Given the description of an element on the screen output the (x, y) to click on. 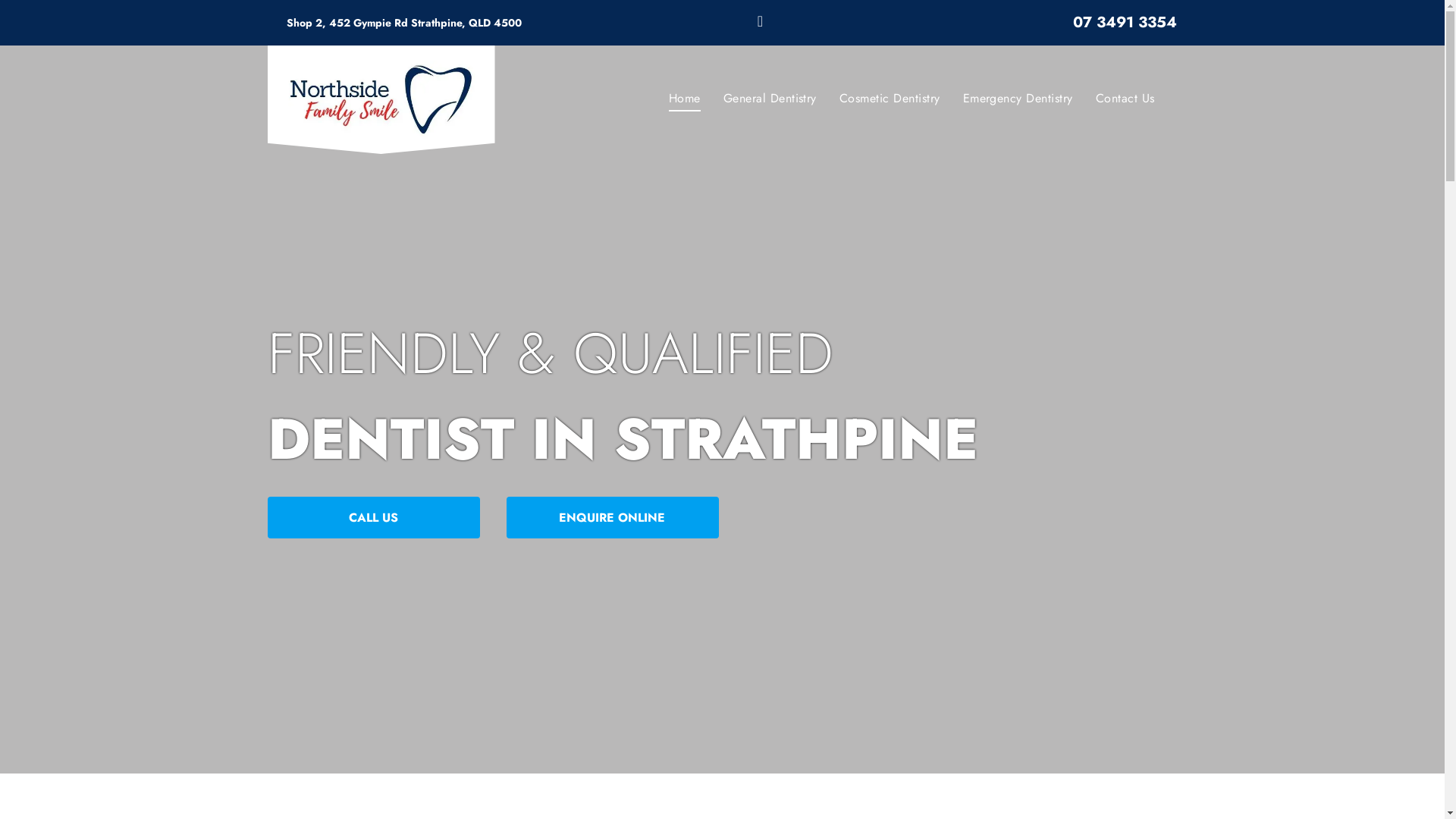
Contact Us Element type: text (1125, 98)
General Dentistry Element type: text (770, 98)
07 3491 3354 Element type: text (1124, 22)
Home Element type: text (684, 98)
ENQUIRE ONLINE Element type: text (612, 517)
CALL US Element type: text (372, 517)
Northside Family Smiles Element type: hover (380, 99)
Emergency Dentistry Element type: text (1017, 98)
Cosmetic Dentistry Element type: text (889, 98)
Shop 2, 452 Gympie Rd Strathpine, QLD 4500 Element type: text (403, 22)
